Given the description of an element on the screen output the (x, y) to click on. 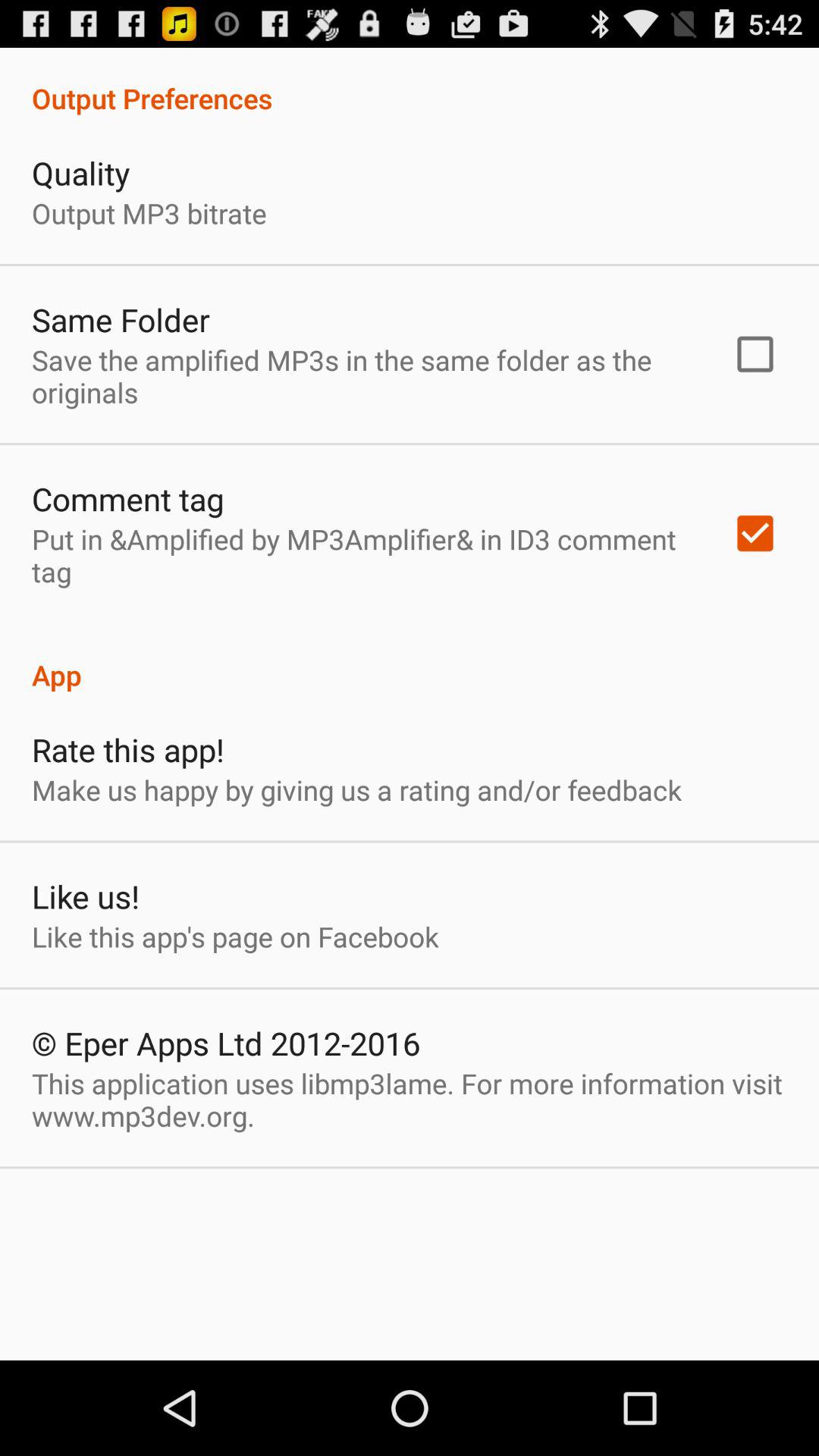
choose eper apps ltd icon (225, 1042)
